Given the description of an element on the screen output the (x, y) to click on. 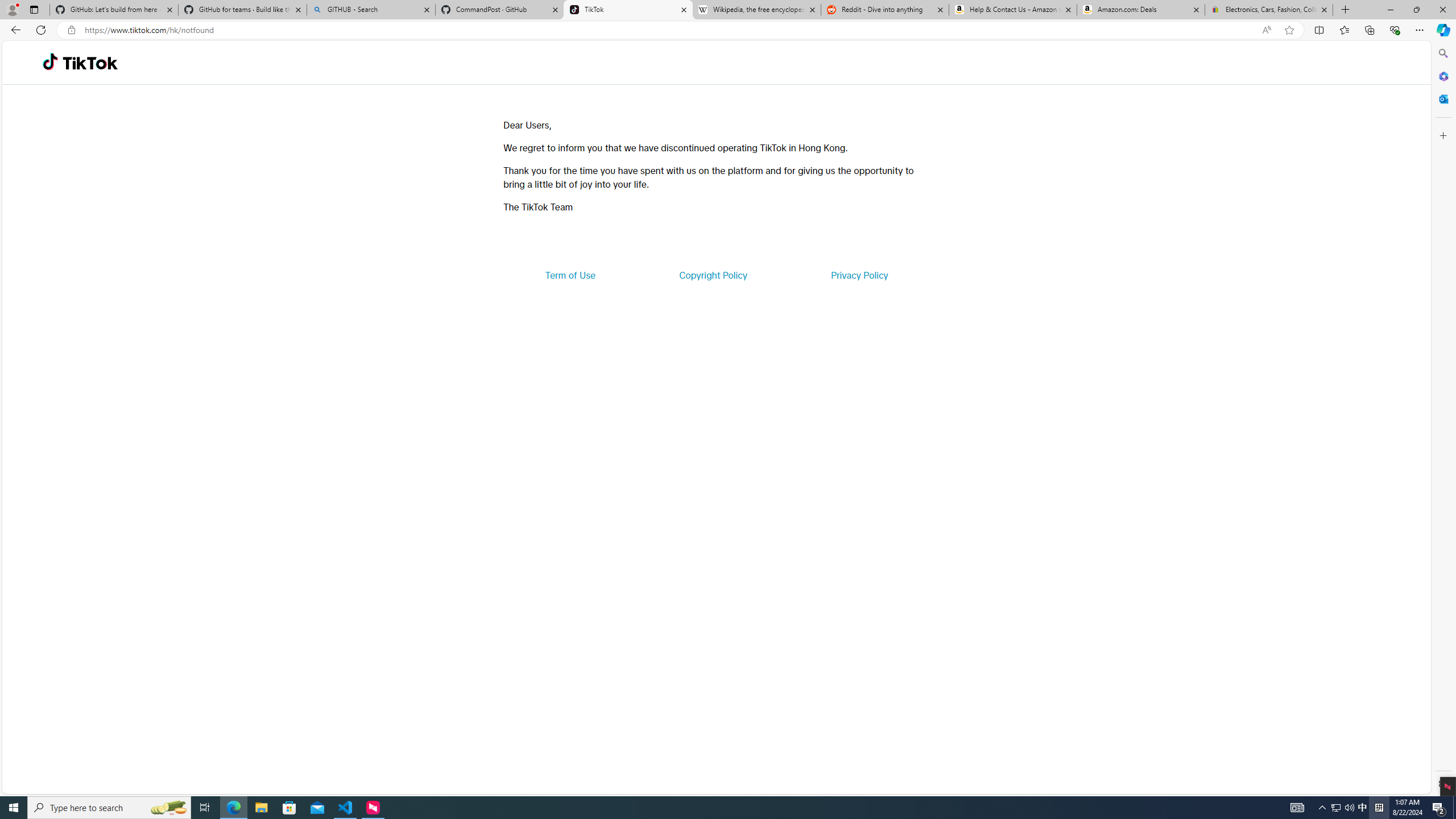
Privacy Policy (858, 274)
Side bar (1443, 418)
Electronics, Cars, Fashion, Collectibles & More | eBay (1268, 9)
Close Outlook pane (1442, 98)
TikTok (628, 9)
